Given the description of an element on the screen output the (x, y) to click on. 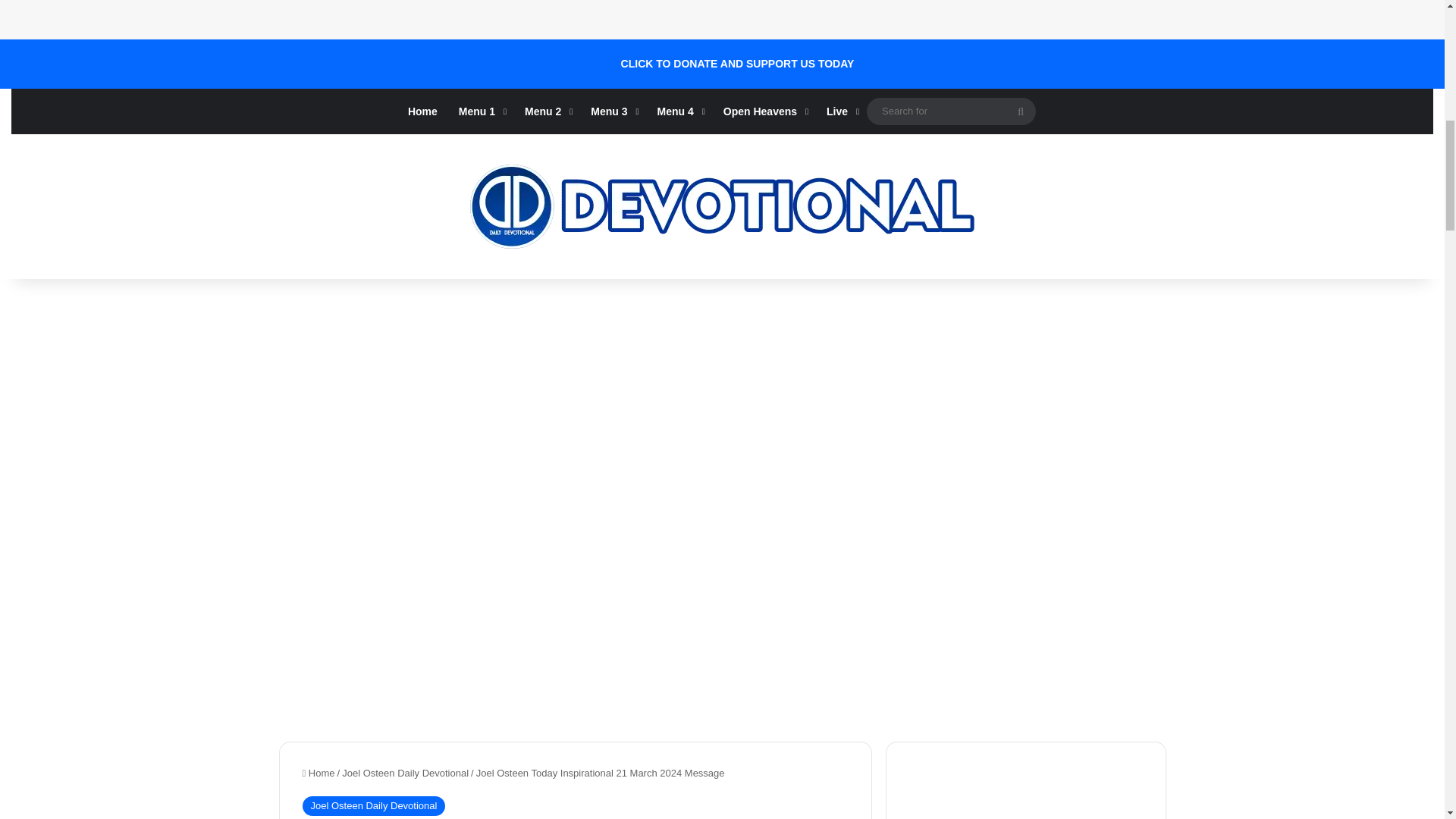
Daily Devotional Today (722, 206)
CLICK TO DONATE AND SUPPORT US TODAY (737, 63)
Menu 4 (679, 111)
Home (422, 111)
Search for (950, 110)
Menu 3 (612, 111)
Menu 2 (546, 111)
Menu 1 (480, 111)
Open Heavens (764, 111)
CLICK TO DONATE AND SUPPORT US TODAY (737, 63)
